Given the description of an element on the screen output the (x, y) to click on. 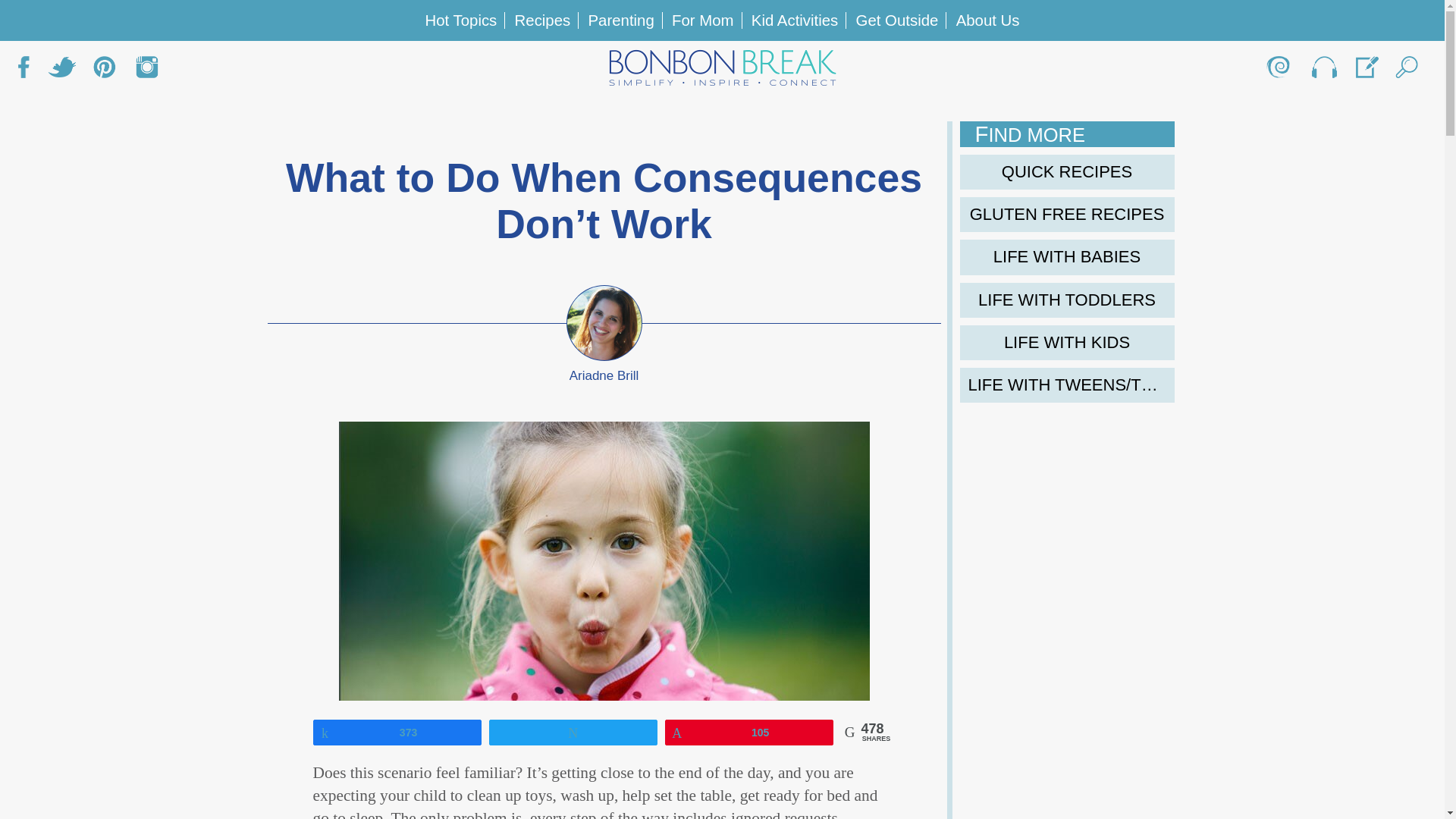
Quick Recipes (1066, 171)
Life with babies (1066, 256)
Instagram (146, 71)
BonBon Live (1322, 71)
About Us (1280, 71)
Gluten Free Recipes (1066, 214)
Life with kids (1066, 342)
373 (397, 731)
Life with toddlers (1066, 299)
Kid Activities (794, 20)
